Given the description of an element on the screen output the (x, y) to click on. 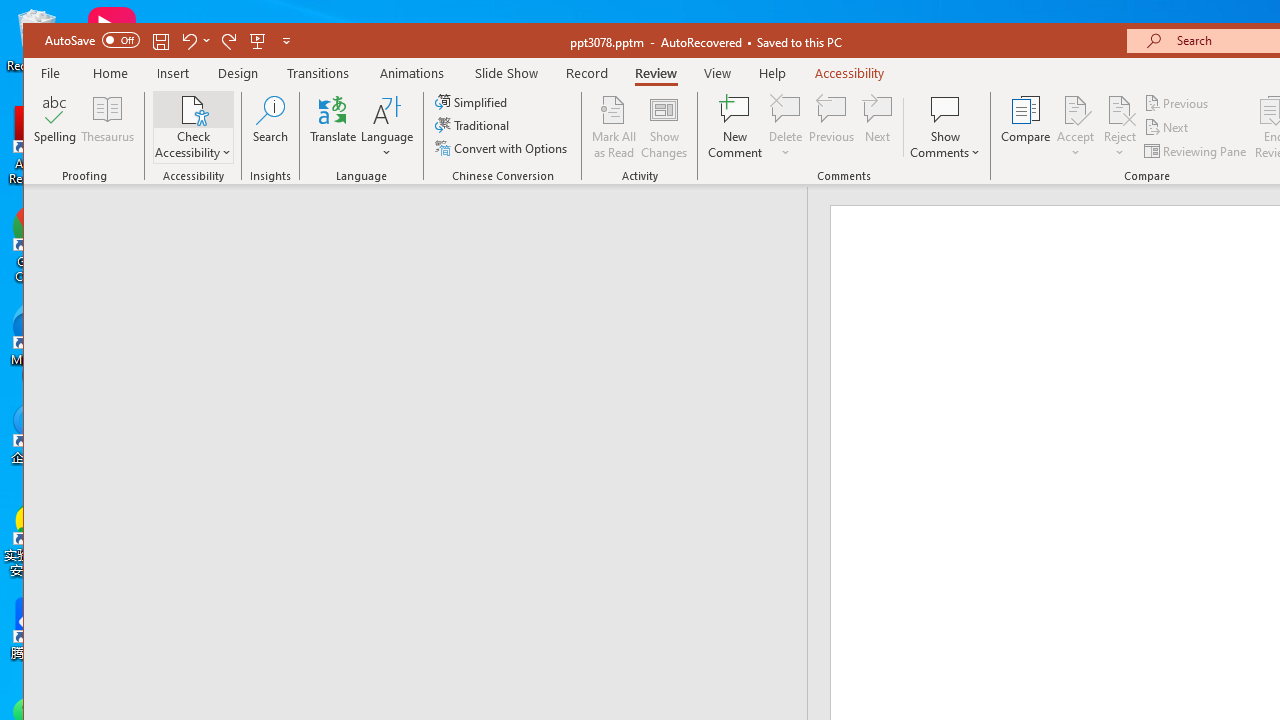
New Comment (735, 127)
Next (1167, 126)
Accept Change (1075, 109)
Previous (1177, 103)
Translate (333, 127)
Language (387, 127)
